Given the description of an element on the screen output the (x, y) to click on. 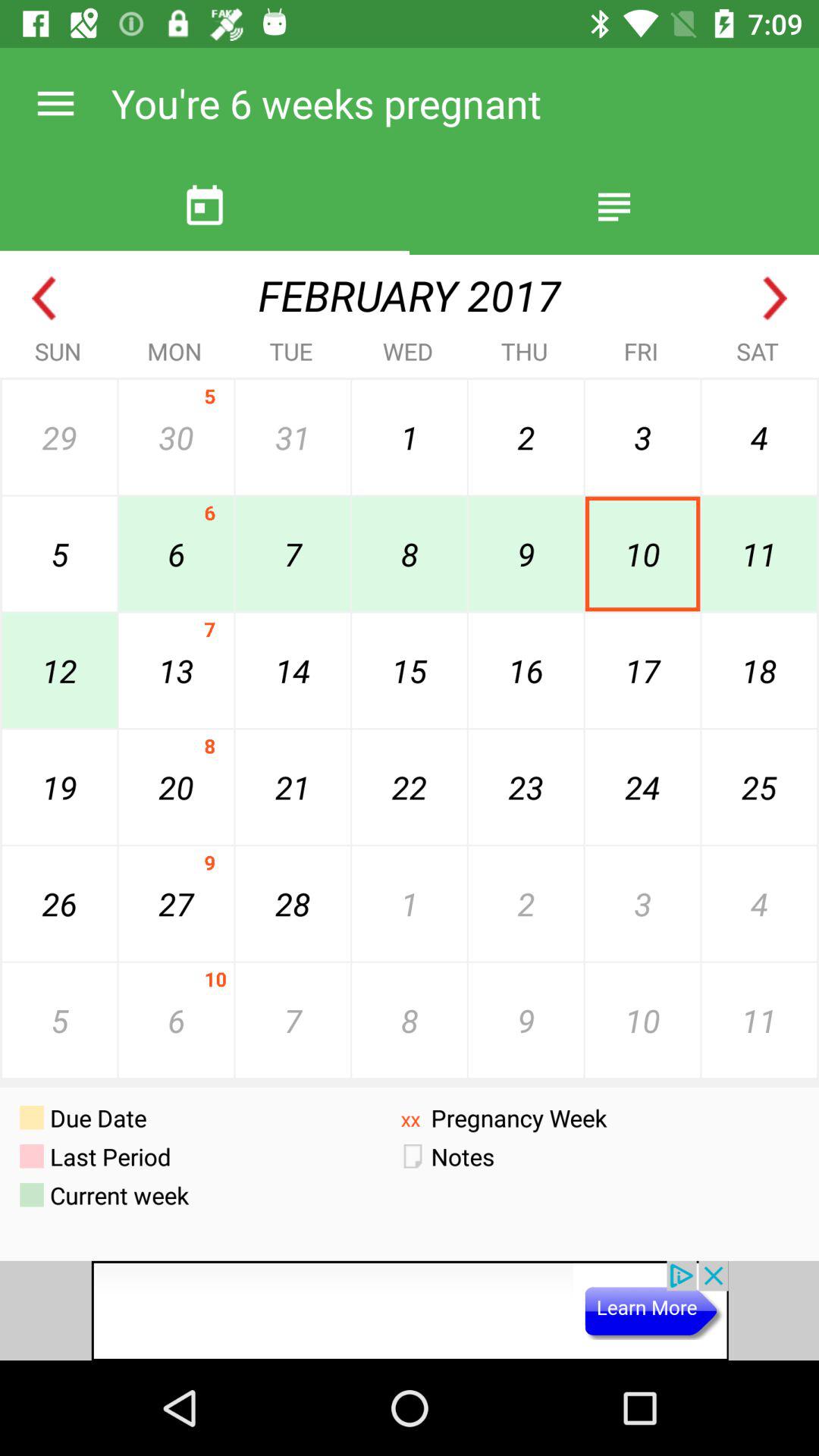
google advertisements (409, 1310)
